Given the description of an element on the screen output the (x, y) to click on. 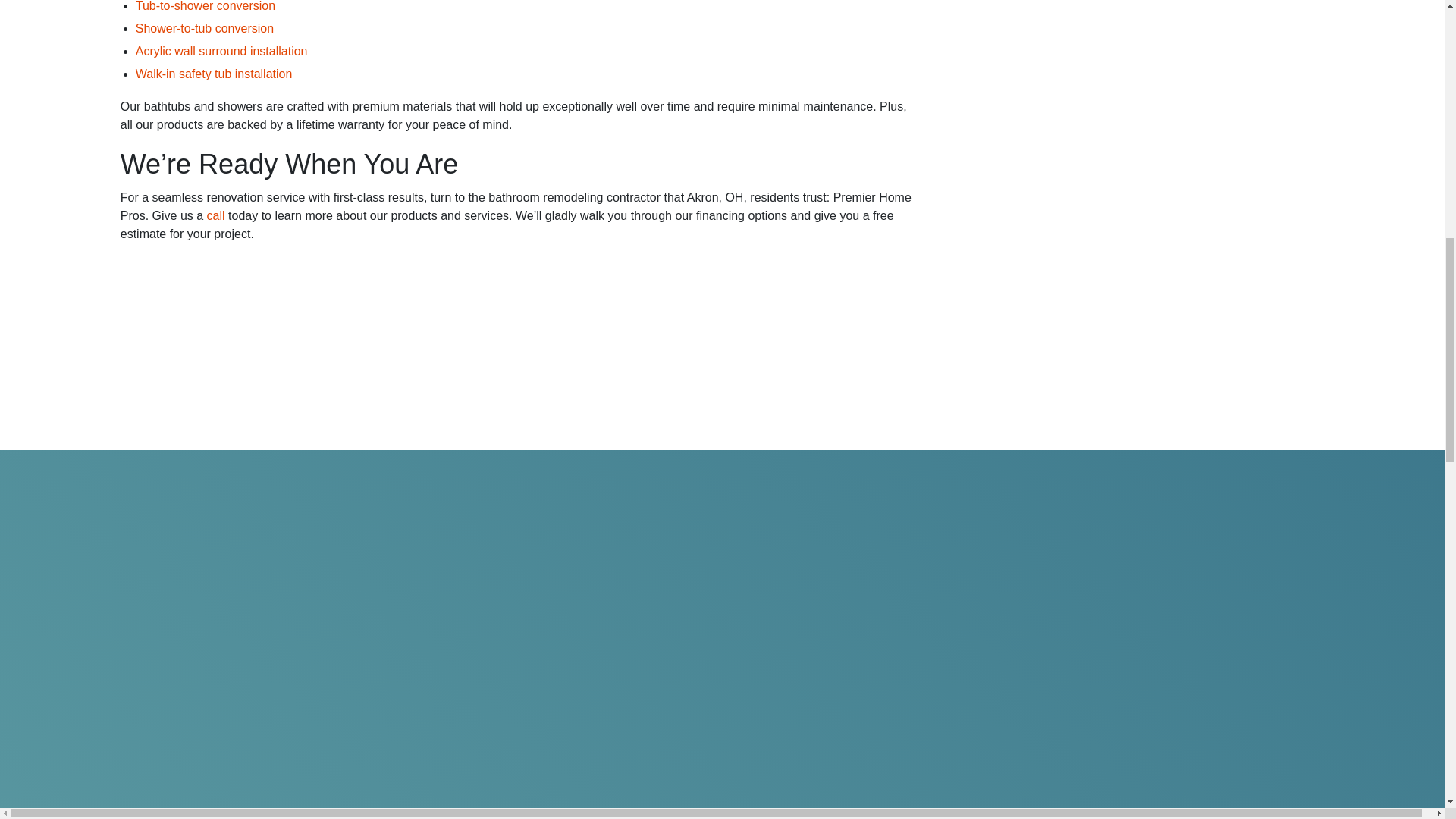
call (215, 215)
Acrylic wall surround installation (221, 51)
Shower-to-tub conversion (204, 28)
Tub-to-shower conversion (205, 6)
Walk-in safety tub installation (213, 73)
